Given the description of an element on the screen output the (x, y) to click on. 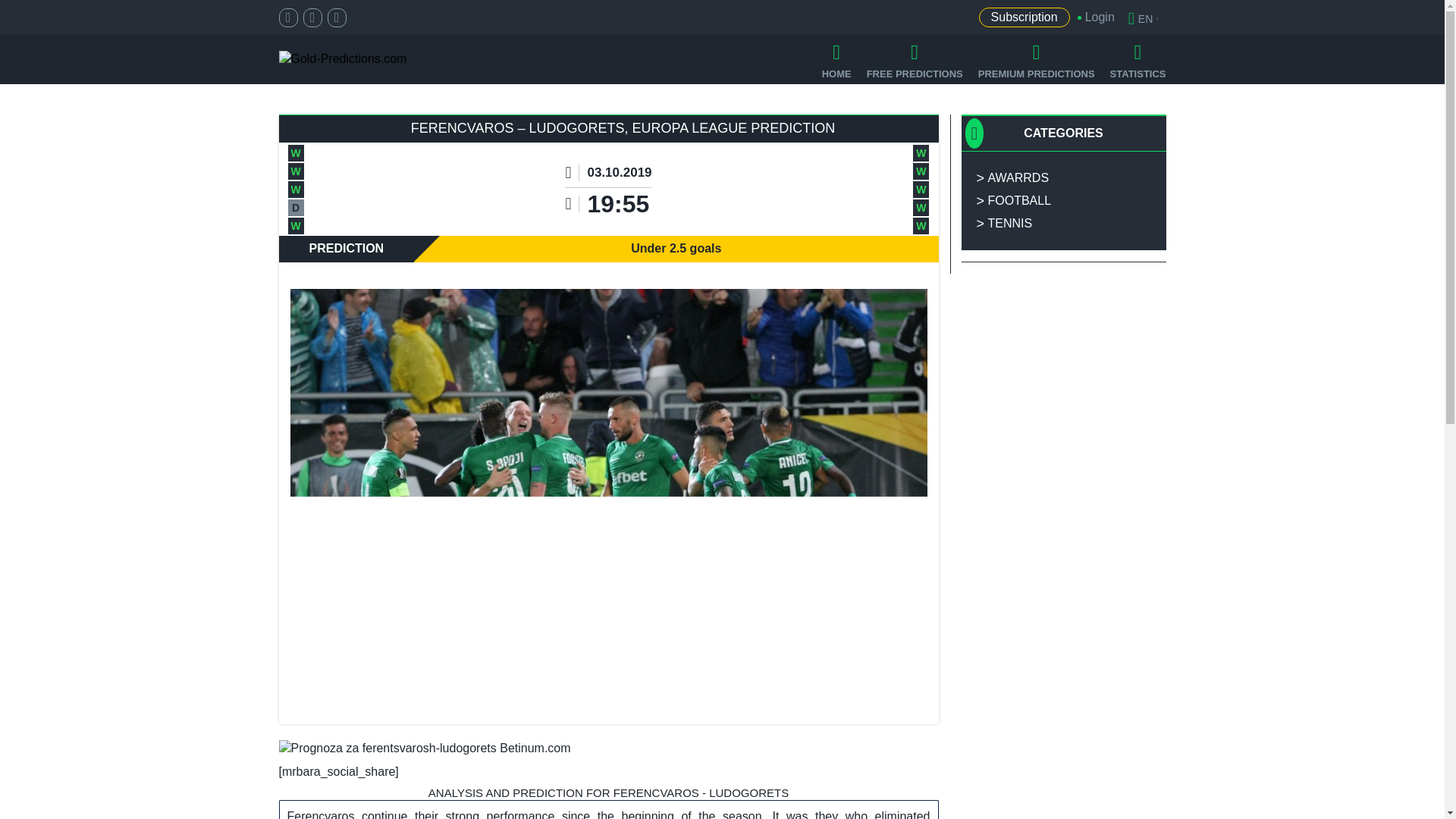
FOOTBALL (1063, 200)
Subscription (1024, 17)
ferentsvarosh-ludogorets (424, 748)
Login (1092, 17)
FREE PREDICTIONS (914, 59)
AWARRDS (1063, 178)
TENNIS (1063, 223)
PREMIUM PREDICTIONS (1036, 59)
STATISTICS (1137, 59)
